Given the description of an element on the screen output the (x, y) to click on. 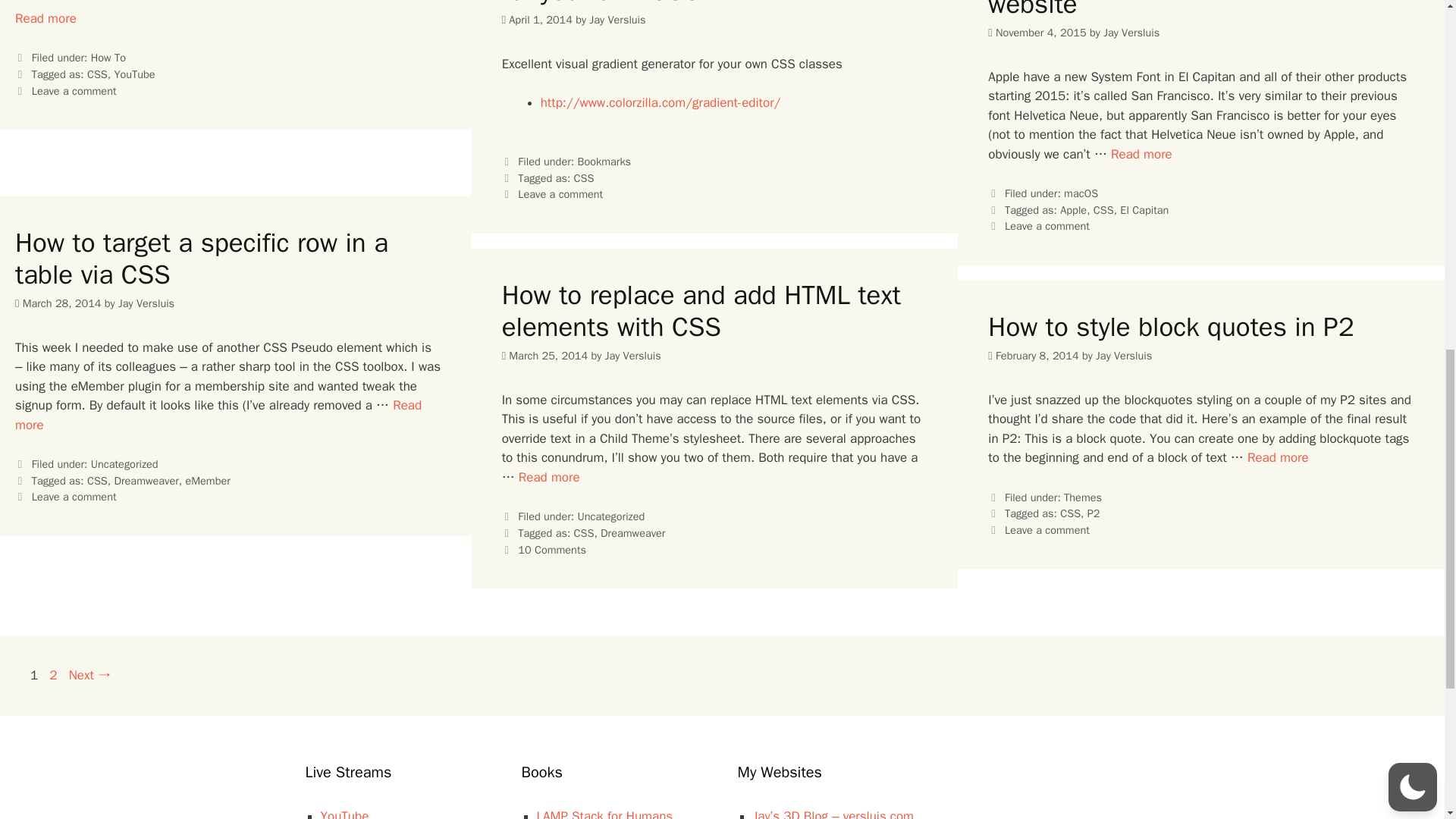
View all posts by Jay Versluis (633, 355)
How to embed your latest YouTube Video with responsive CSS (45, 18)
View all posts by Jay Versluis (1130, 32)
How to replace and add HTML text elements with CSS (548, 477)
View all posts by Jay Versluis (617, 19)
How to target a specific row in a table via CSS (218, 415)
View all posts by Jay Versluis (145, 303)
View all posts by Jay Versluis (1123, 355)
